Given the description of an element on the screen output the (x, y) to click on. 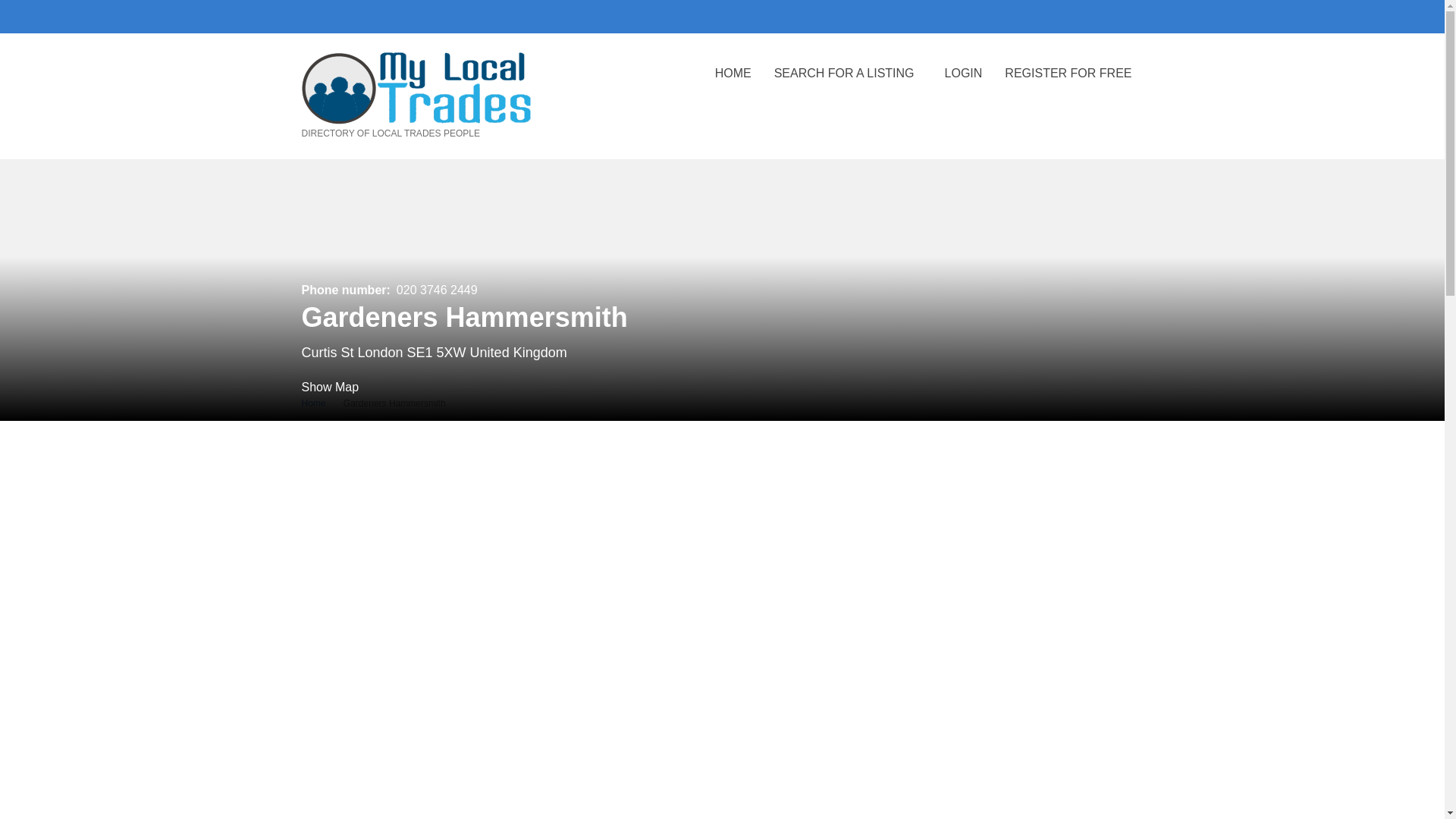
Home (313, 403)
REGISTER FOR FREE (1067, 84)
020 3746 2449 (436, 289)
HOME (732, 84)
Login to add your listing (963, 84)
Show Map (330, 386)
SEARCH FOR A LISTING (847, 84)
Show Map (330, 386)
